Given the description of an element on the screen output the (x, y) to click on. 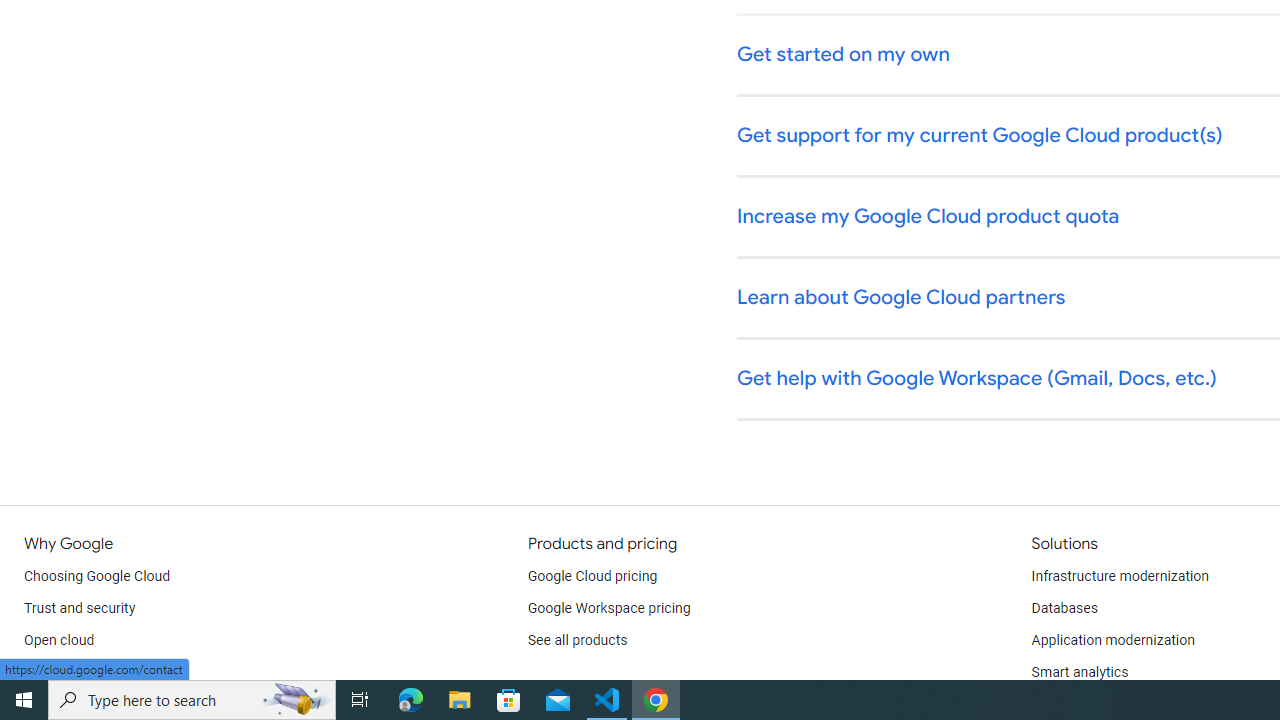
Trust and security (79, 608)
Google Cloud pricing (592, 576)
Choosing Google Cloud (97, 576)
Open cloud (59, 640)
Application modernization (1112, 640)
Infrastructure modernization (1119, 576)
Smart analytics (1079, 672)
Multicloud (56, 672)
Google Workspace pricing (609, 608)
See all products (577, 640)
Databases (1064, 608)
